Given the description of an element on the screen output the (x, y) to click on. 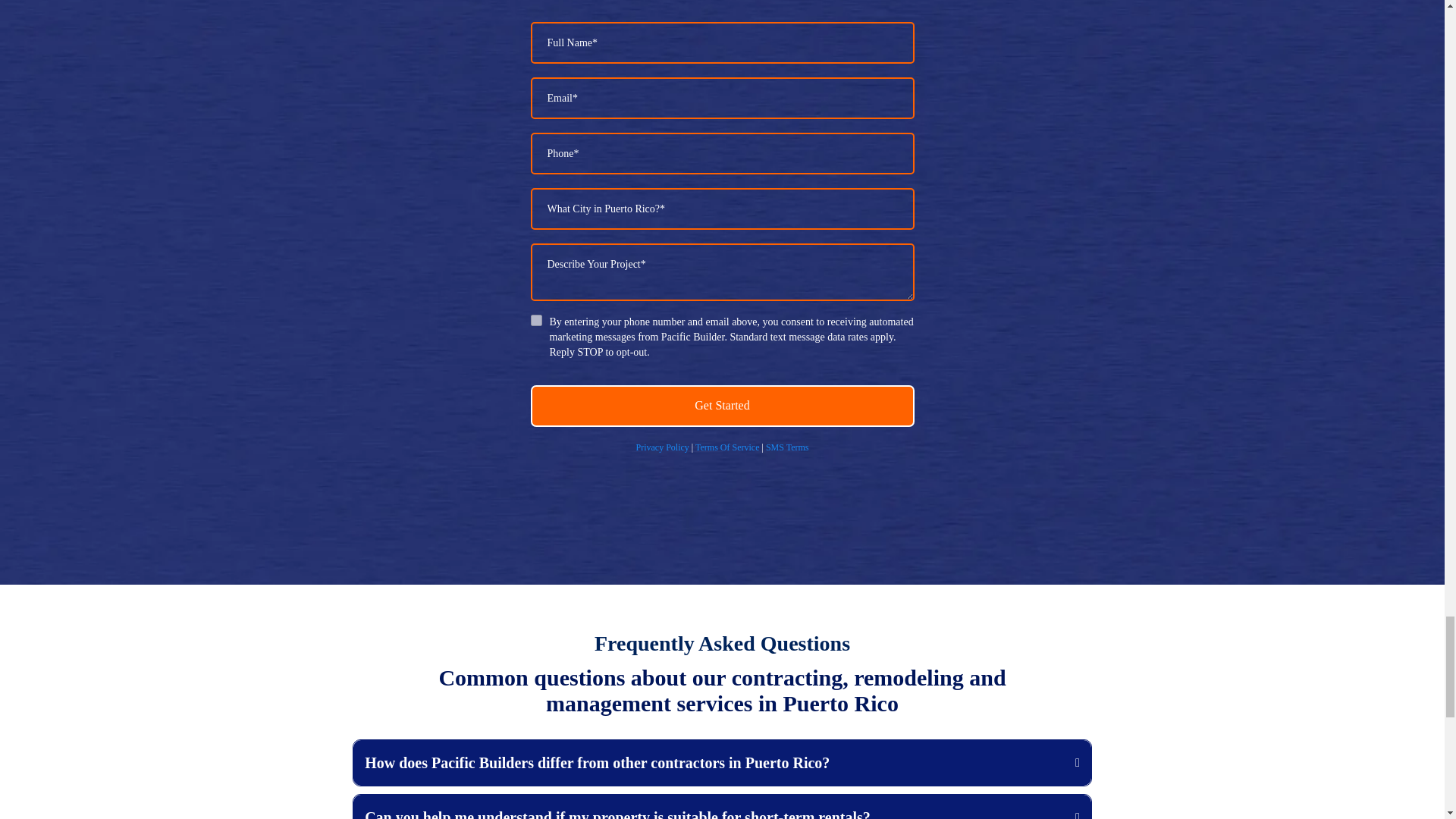
Get Started (722, 405)
Privacy Policy (661, 447)
Terms Of Service (726, 447)
SMS Terms (787, 447)
